Given the description of an element on the screen output the (x, y) to click on. 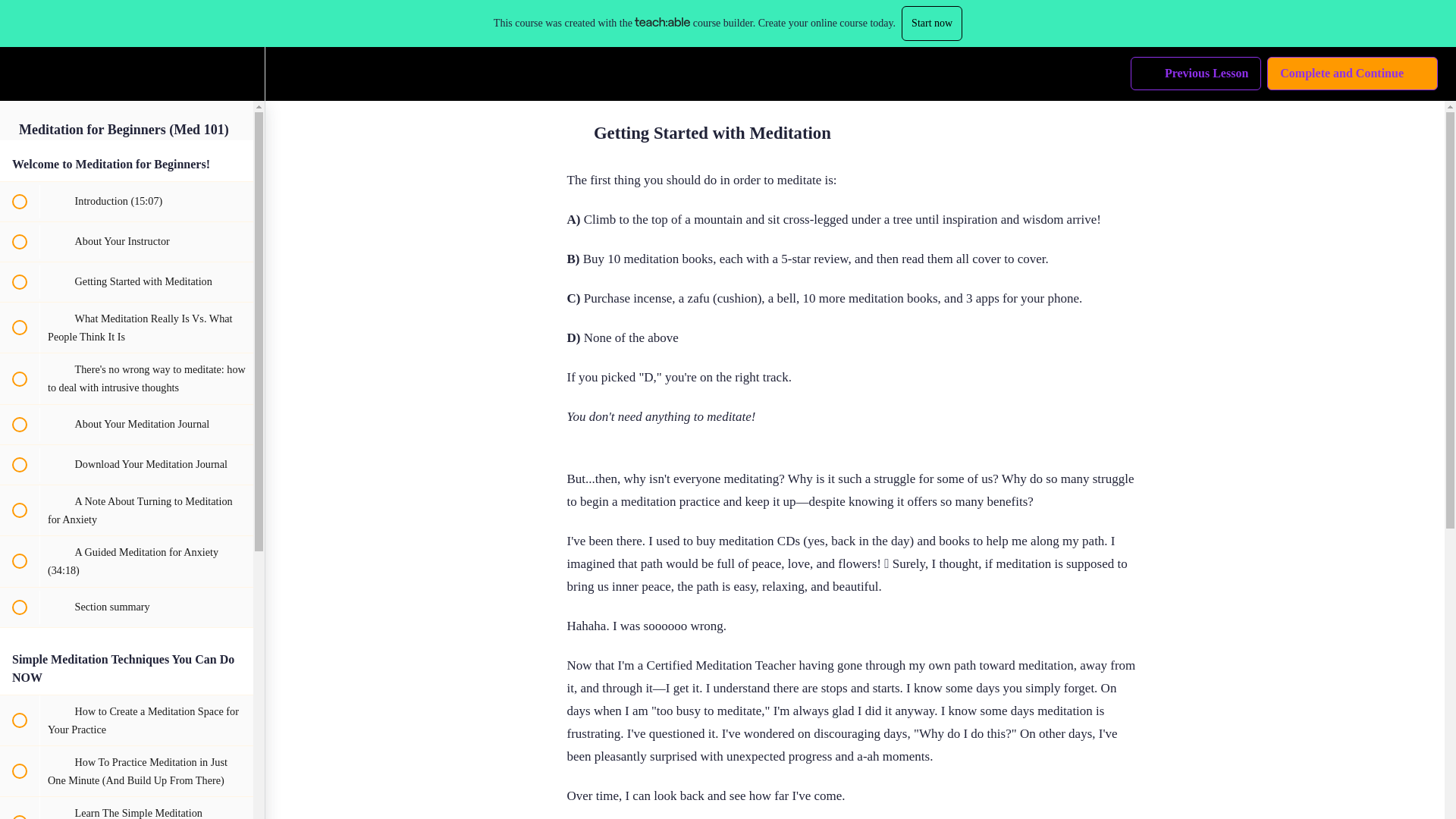
teachable.com (662, 21)
  Getting Started with Meditation (126, 282)
  About Your Instructor (126, 241)
Back to course curriculum (17, 73)
Start now (931, 22)
  Section summary (126, 607)
Settings Menu (1352, 73)
  Previous Lesson (244, 73)
